Given the description of an element on the screen output the (x, y) to click on. 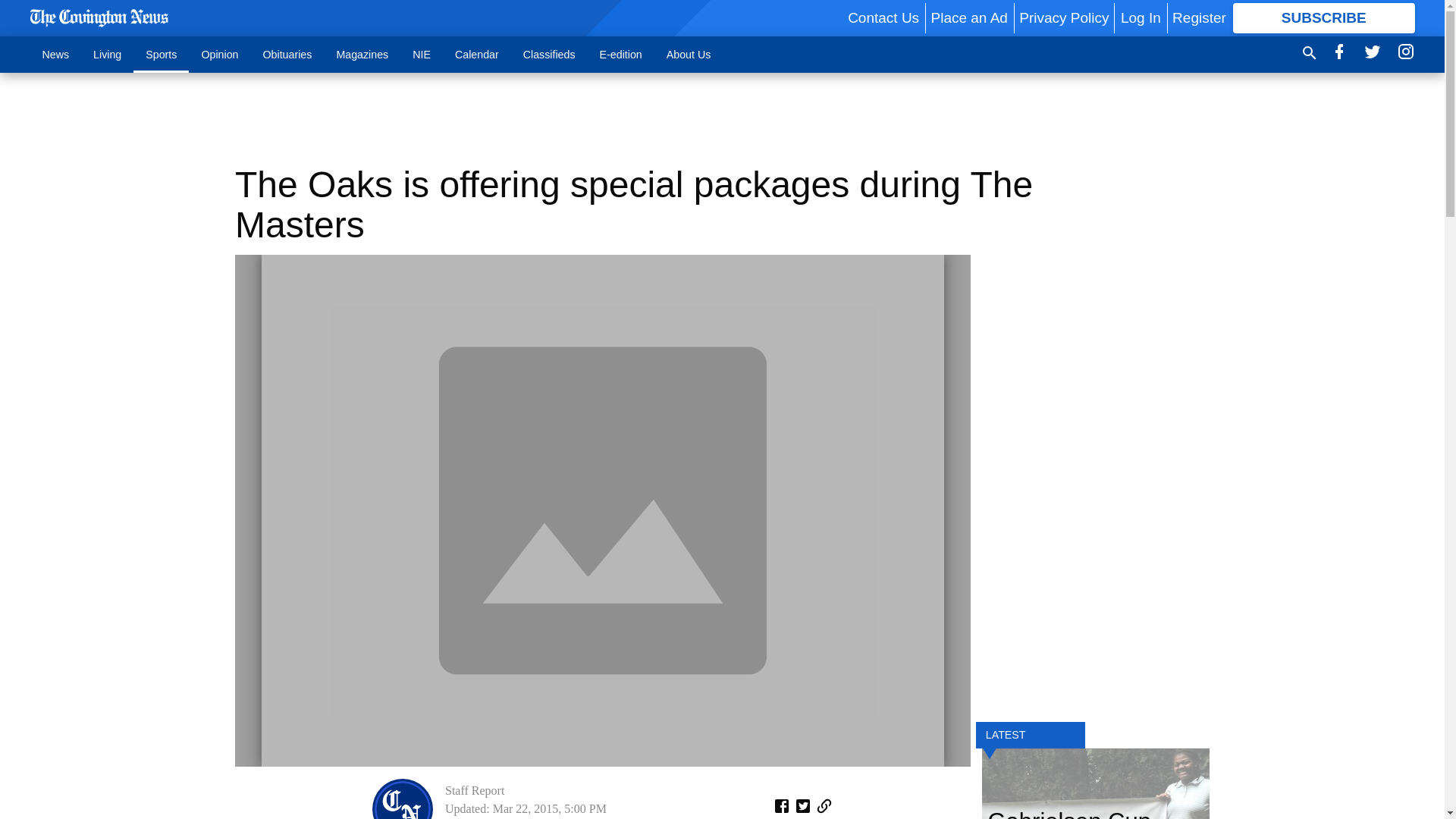
Magazines (361, 54)
Register (1198, 17)
Calendar (476, 54)
3rd party ad content (721, 119)
About Us (688, 54)
NIE (421, 54)
Place an Ad (968, 17)
News (55, 54)
Classifieds (549, 54)
E-edition (620, 54)
Privacy Policy (1063, 17)
Opinion (219, 54)
Living (107, 54)
Log In (1140, 17)
SUBSCRIBE (1324, 18)
